Given the description of an element on the screen output the (x, y) to click on. 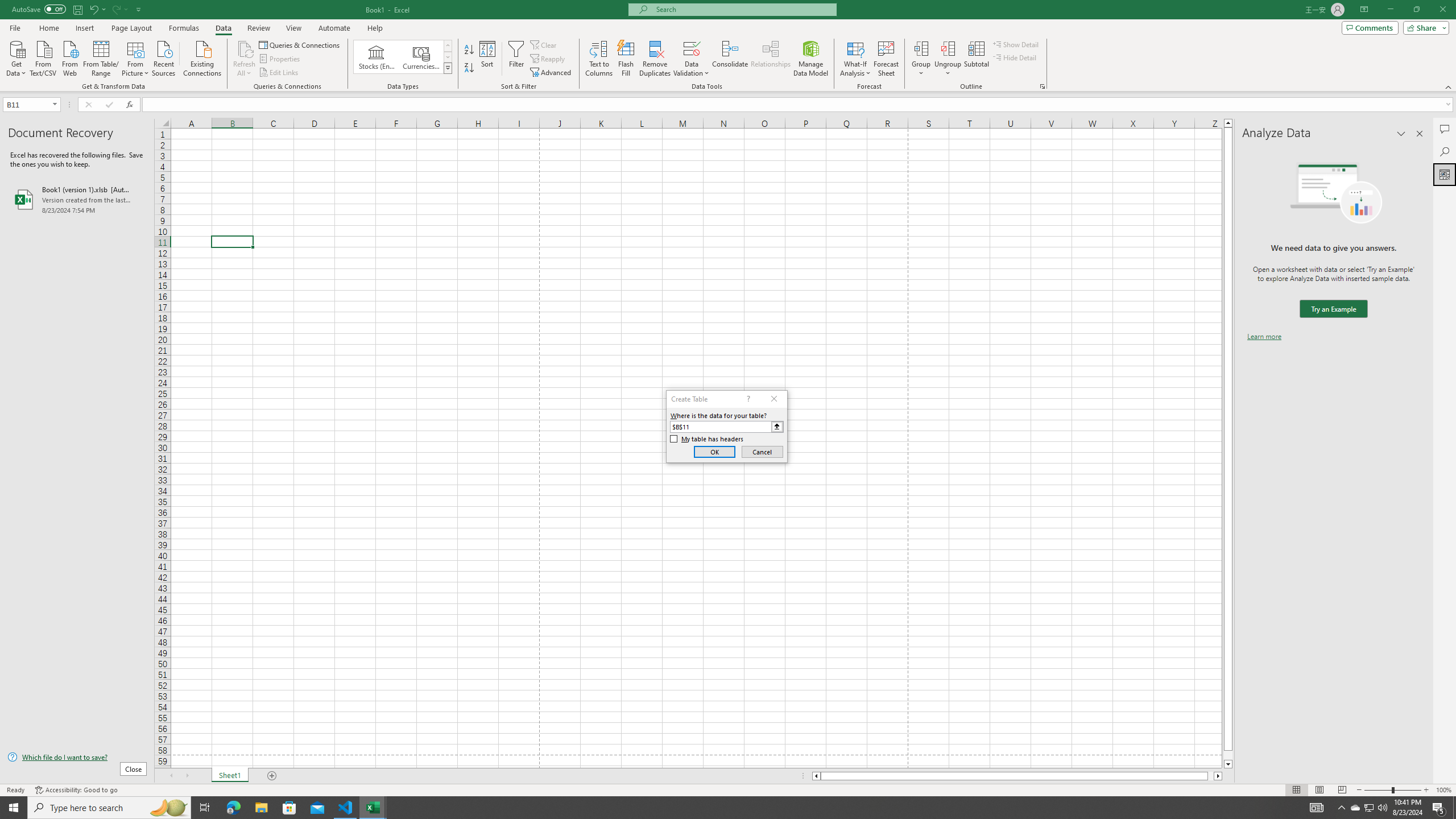
Data Types (448, 67)
What-If Analysis (855, 58)
Advanced... (551, 72)
Show Detail (1016, 44)
